Given the description of an element on the screen output the (x, y) to click on. 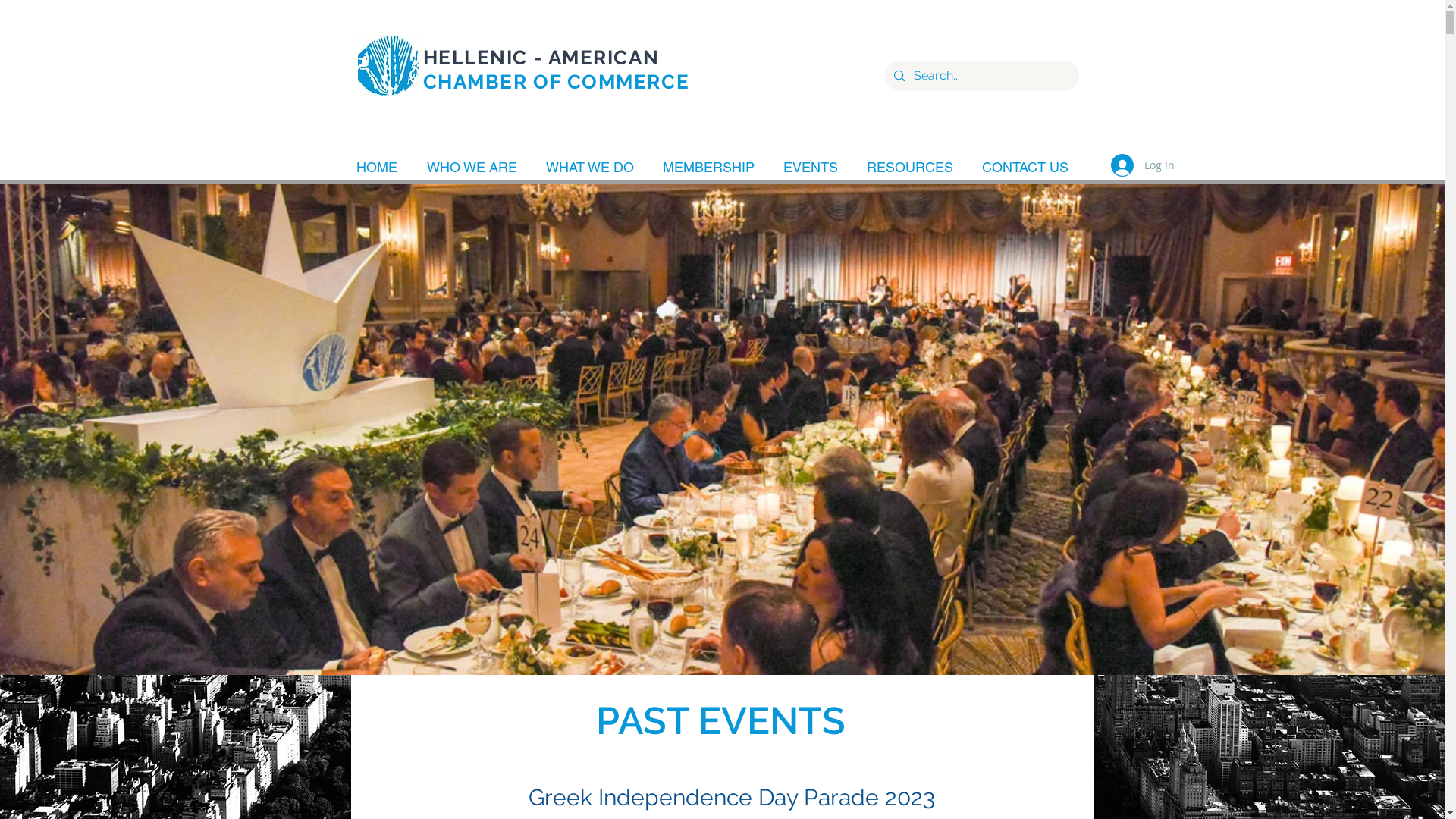
logo blue.jpg Element type: hover (387, 64)
HOME Element type: text (379, 165)
CHAMBER OF COMMERCE Element type: text (556, 81)
CONTACT US Element type: text (1027, 165)
HELLENIC - AMERICAN Element type: text (541, 57)
Log In Element type: text (1141, 165)
